Given the description of an element on the screen output the (x, y) to click on. 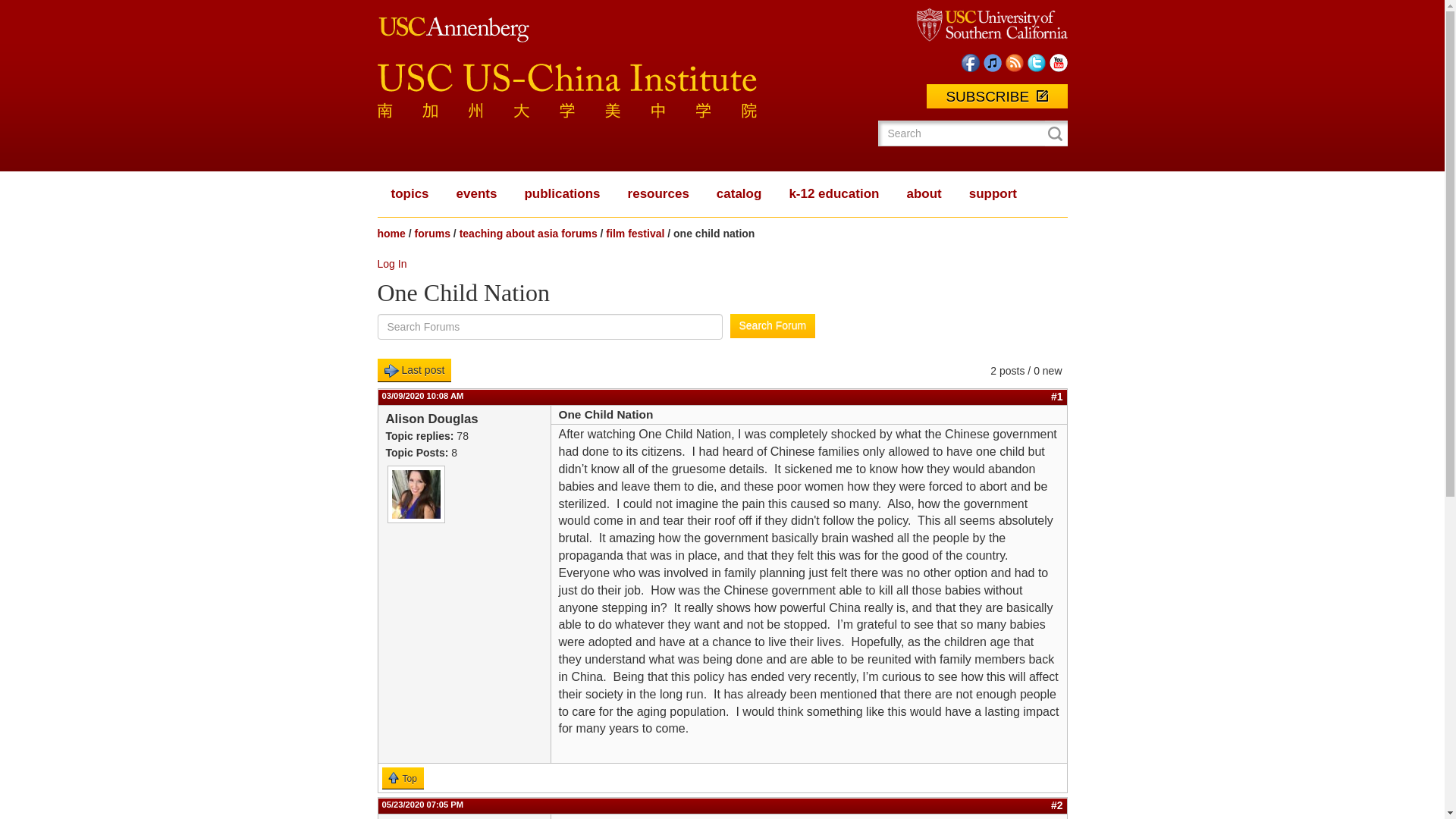
events (476, 194)
publications (561, 194)
catalog (739, 194)
k-12 education (833, 194)
Home (567, 82)
topics (409, 194)
Enter the terms you wish to search for. (967, 133)
Subscribe (996, 96)
University of Southern California (991, 24)
SUBSCRIBE (996, 96)
